Given the description of an element on the screen output the (x, y) to click on. 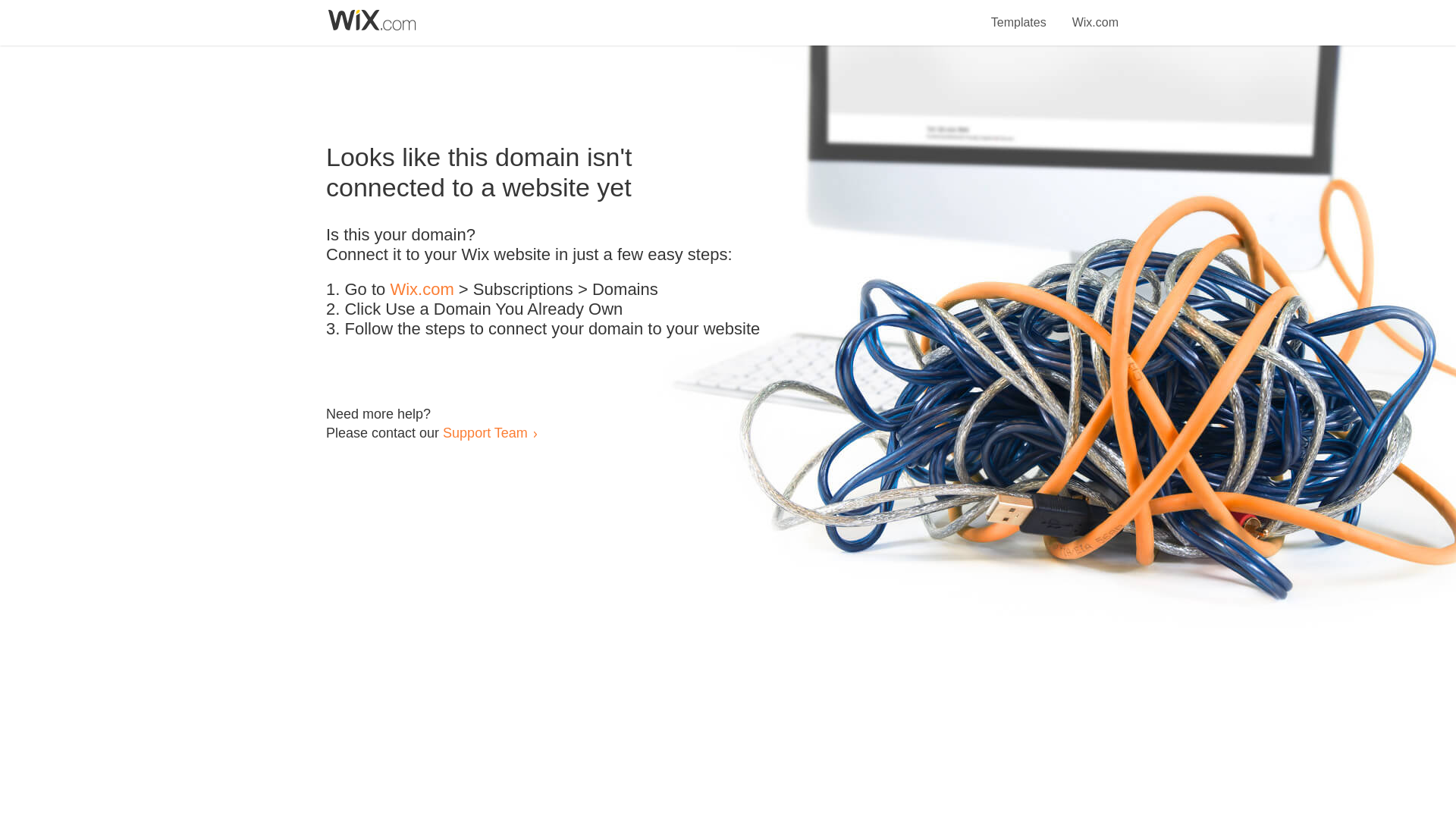
Support Team (484, 432)
Templates (1018, 14)
Wix.com (1095, 14)
Wix.com (421, 289)
